Given the description of an element on the screen output the (x, y) to click on. 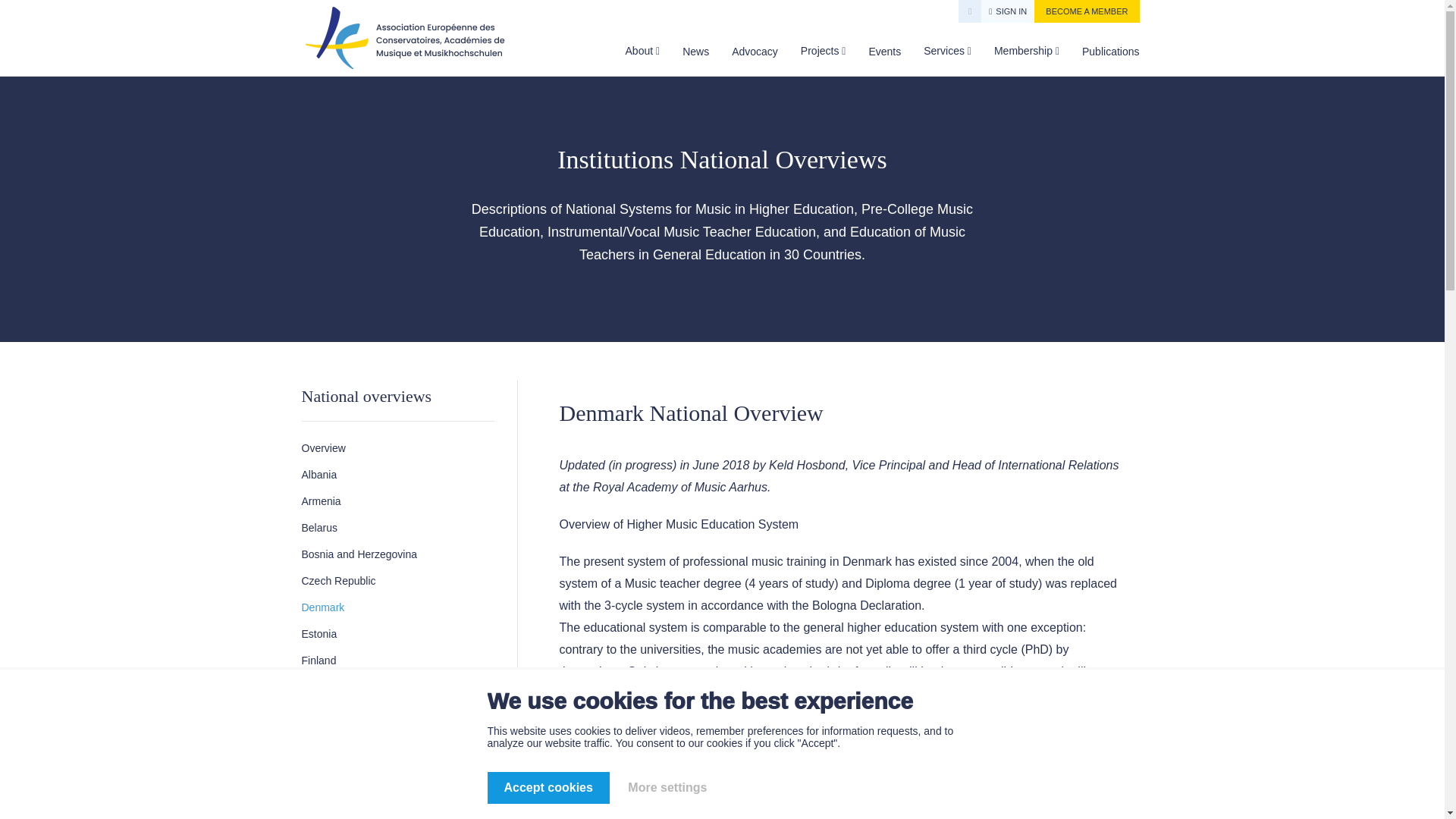
Publications (1110, 51)
About (641, 50)
Belarus (398, 527)
Projects (820, 50)
BECOME A MEMBER (1085, 11)
Albania (398, 474)
Services (945, 50)
Membership (1024, 50)
Events (884, 51)
SIGN IN (1007, 11)
